Given the description of an element on the screen output the (x, y) to click on. 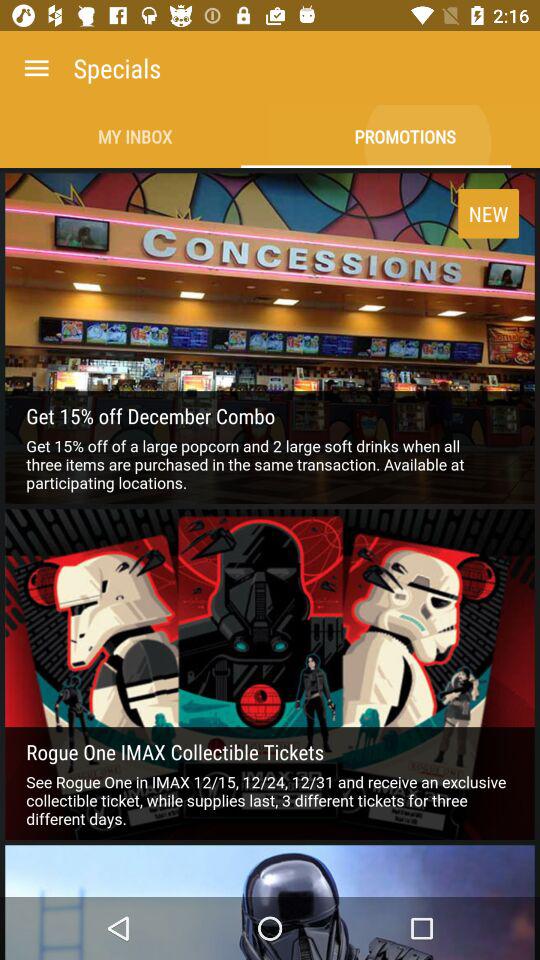
launch the item next to the specials item (36, 68)
